Given the description of an element on the screen output the (x, y) to click on. 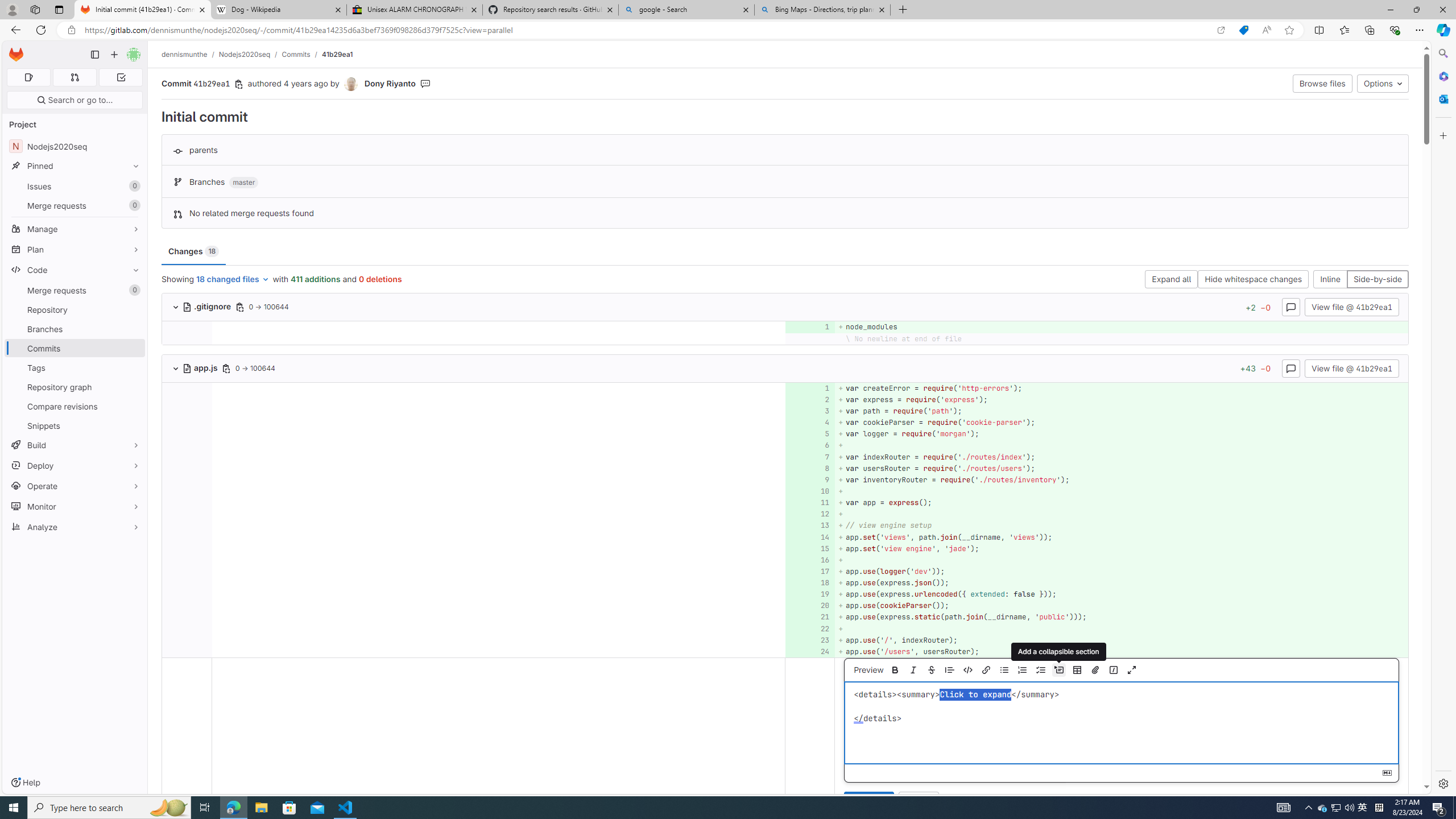
Add a checklist (1040, 670)
View file @ 41b29ea1 (1351, 367)
5 (808, 434)
15 (808, 548)
Open in app (1220, 29)
18 changed files (233, 279)
Merge requests0 (74, 289)
Manage (74, 228)
41b29ea1 (337, 53)
Pin Tags (132, 367)
Class: notes_line new (809, 737)
Plan (74, 248)
Pin Snippets (132, 425)
+ var express = require('express');  (1120, 399)
